Given the description of an element on the screen output the (x, y) to click on. 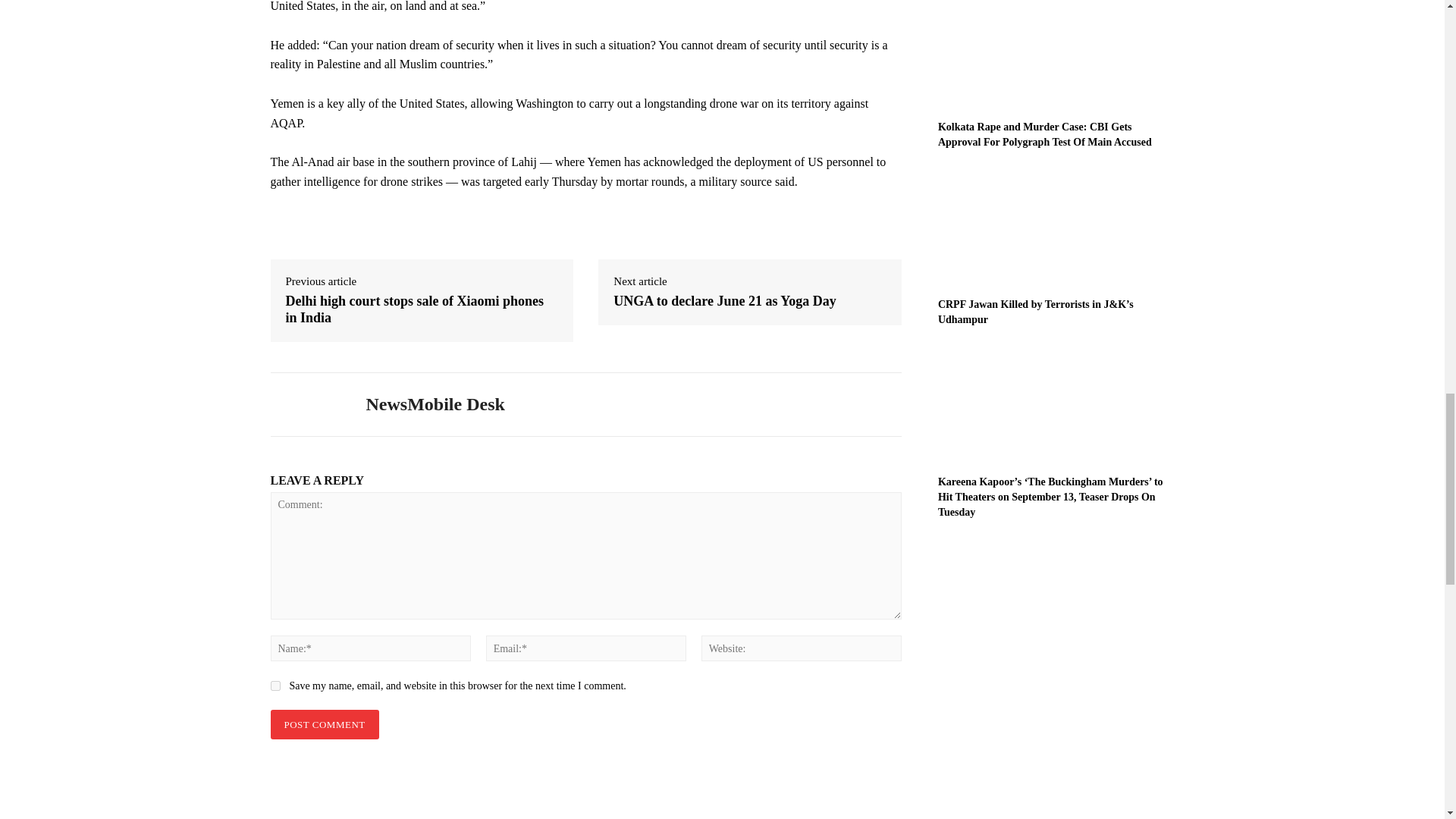
Post Comment (323, 724)
yes (274, 685)
NewsMobile Desk (305, 404)
